Given the description of an element on the screen output the (x, y) to click on. 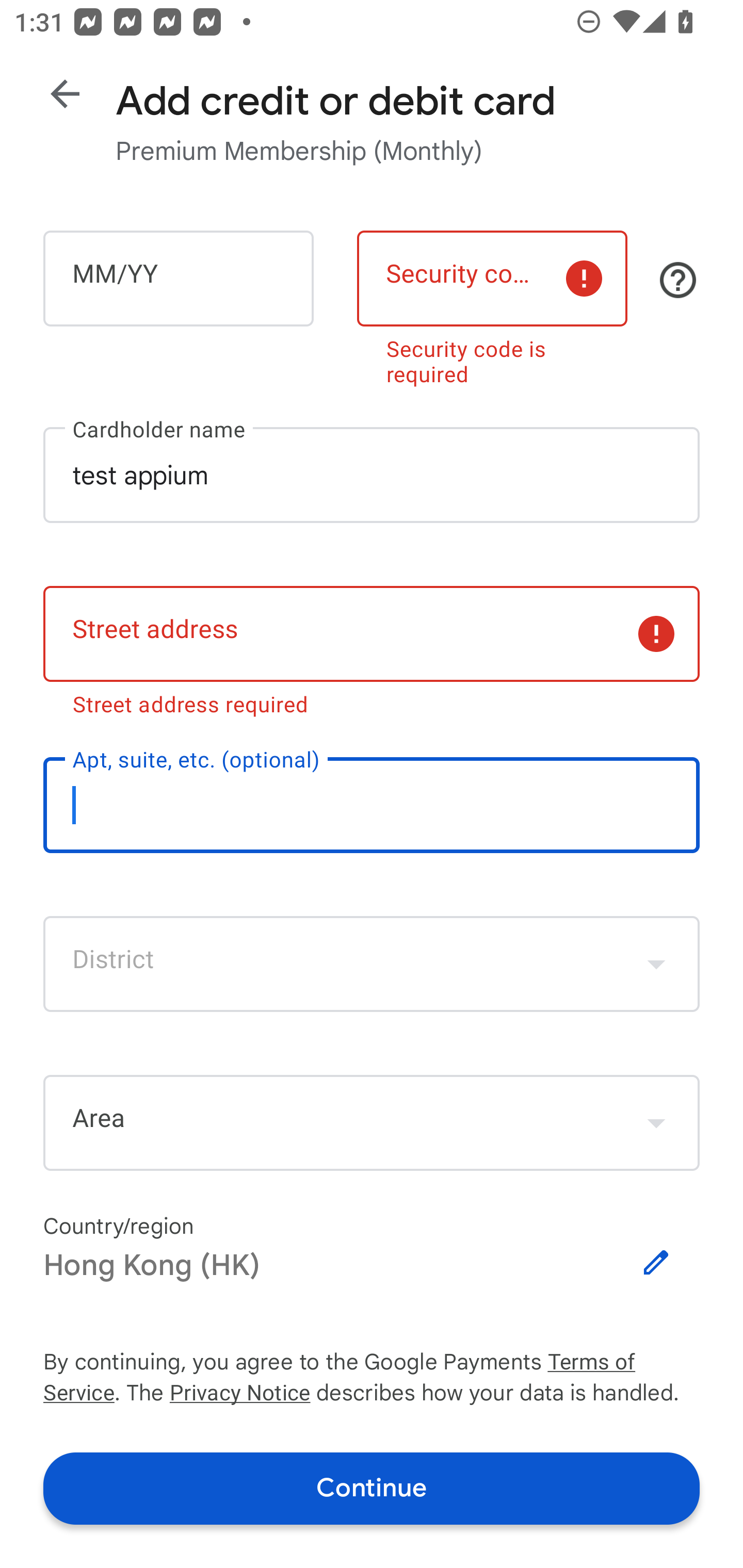
Back (64, 93)
Security code Error Security code is required (492, 304)
Expiration date, 2 digit month, 2 digit year (178, 278)
Security code (492, 278)
Security code help (677, 279)
test appium (371, 474)
Street address (371, 634)
Apt, suite, etc. (optional) (371, 804)
District (371, 963)
Show dropdown menu (655, 963)
Area (371, 1123)
Show dropdown menu (655, 1122)
country edit button (655, 1262)
Terms of Service (623, 1362)
Privacy Notice (239, 1394)
Continue (371, 1487)
